Given the description of an element on the screen output the (x, y) to click on. 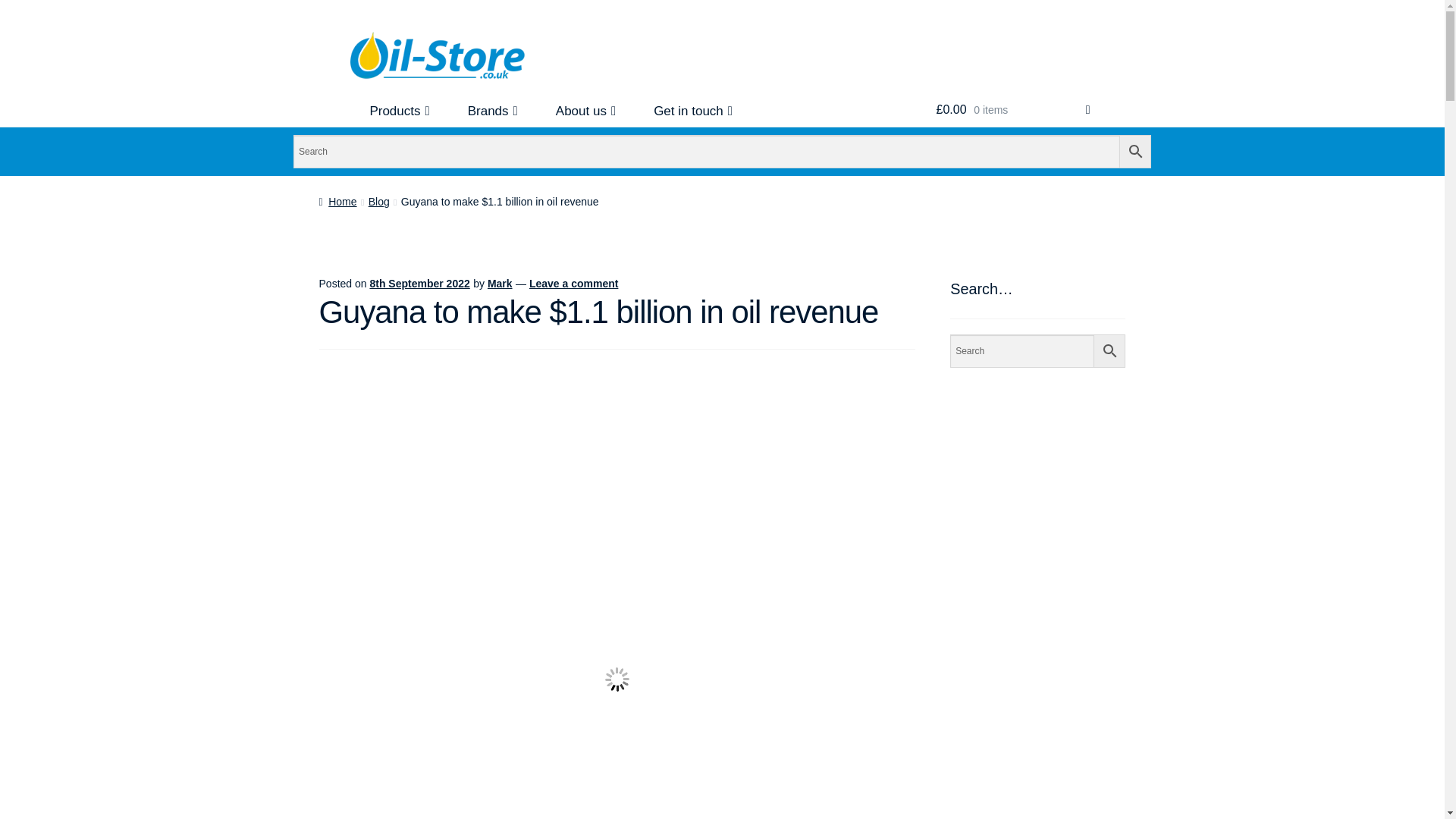
View your shopping basket (1013, 109)
Products (399, 111)
